Given the description of an element on the screen output the (x, y) to click on. 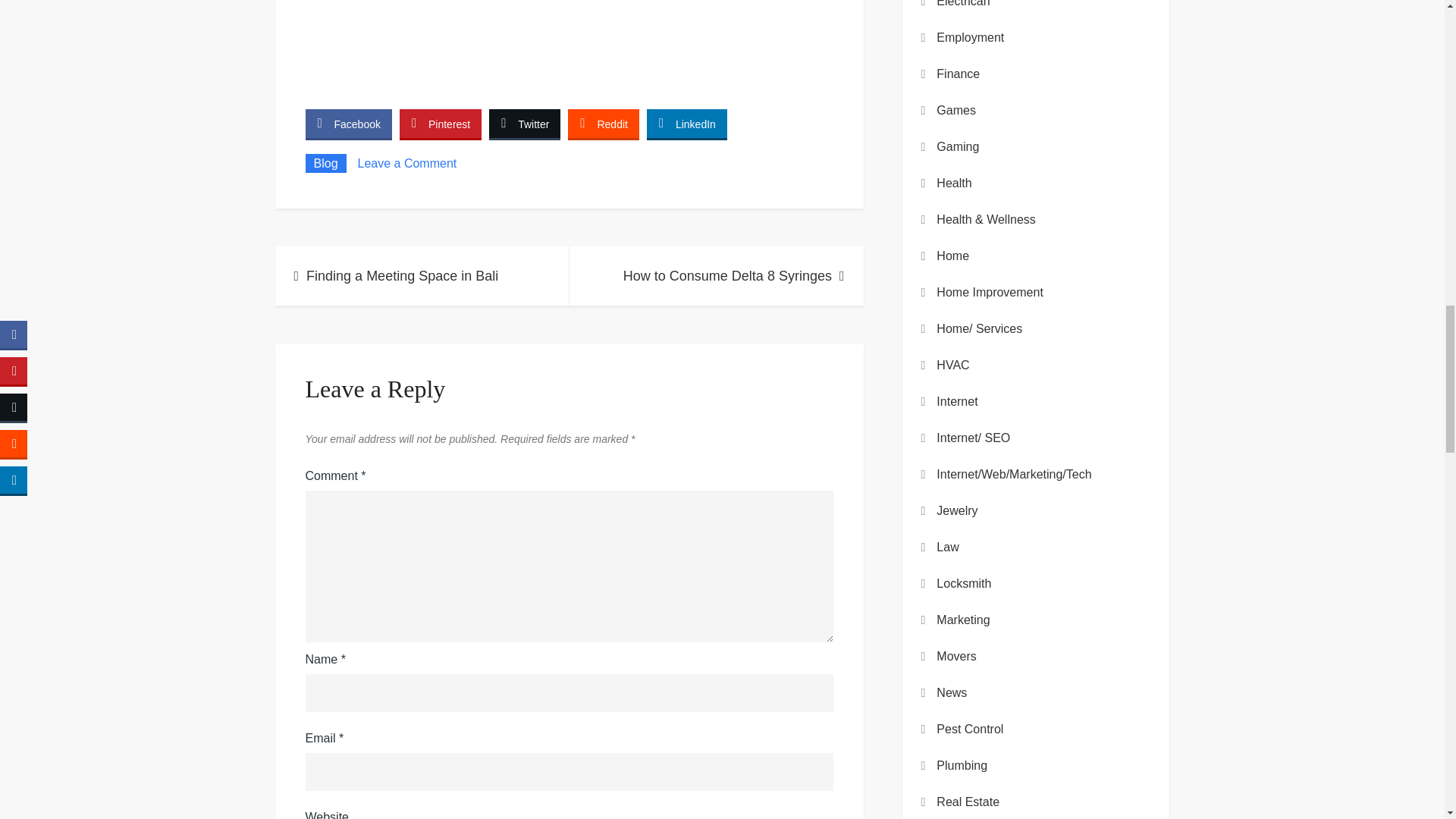
Finding a Meeting Space in Bali (422, 275)
LinkedIn (686, 123)
Employment (970, 37)
Blog (325, 162)
Twitter (524, 123)
Reddit (603, 123)
Electrican (963, 6)
Pinterest (439, 123)
How to Consume Delta 8 Syringes (716, 275)
Facebook (347, 123)
